Given the description of an element on the screen output the (x, y) to click on. 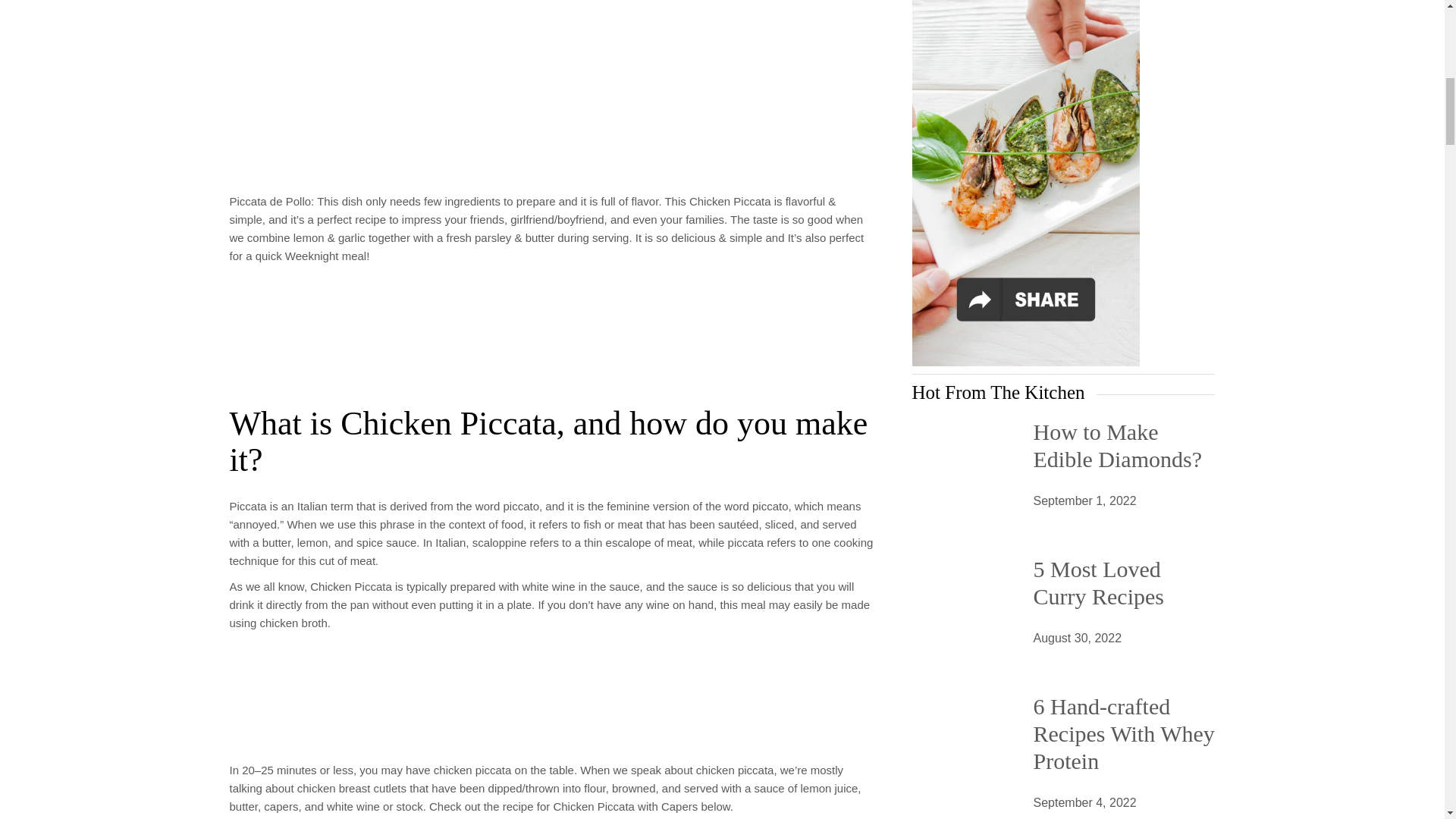
Title Text:  (1083, 501)
Title Text:  (1083, 803)
Title Text:  (1076, 638)
